Given the description of an element on the screen output the (x, y) to click on. 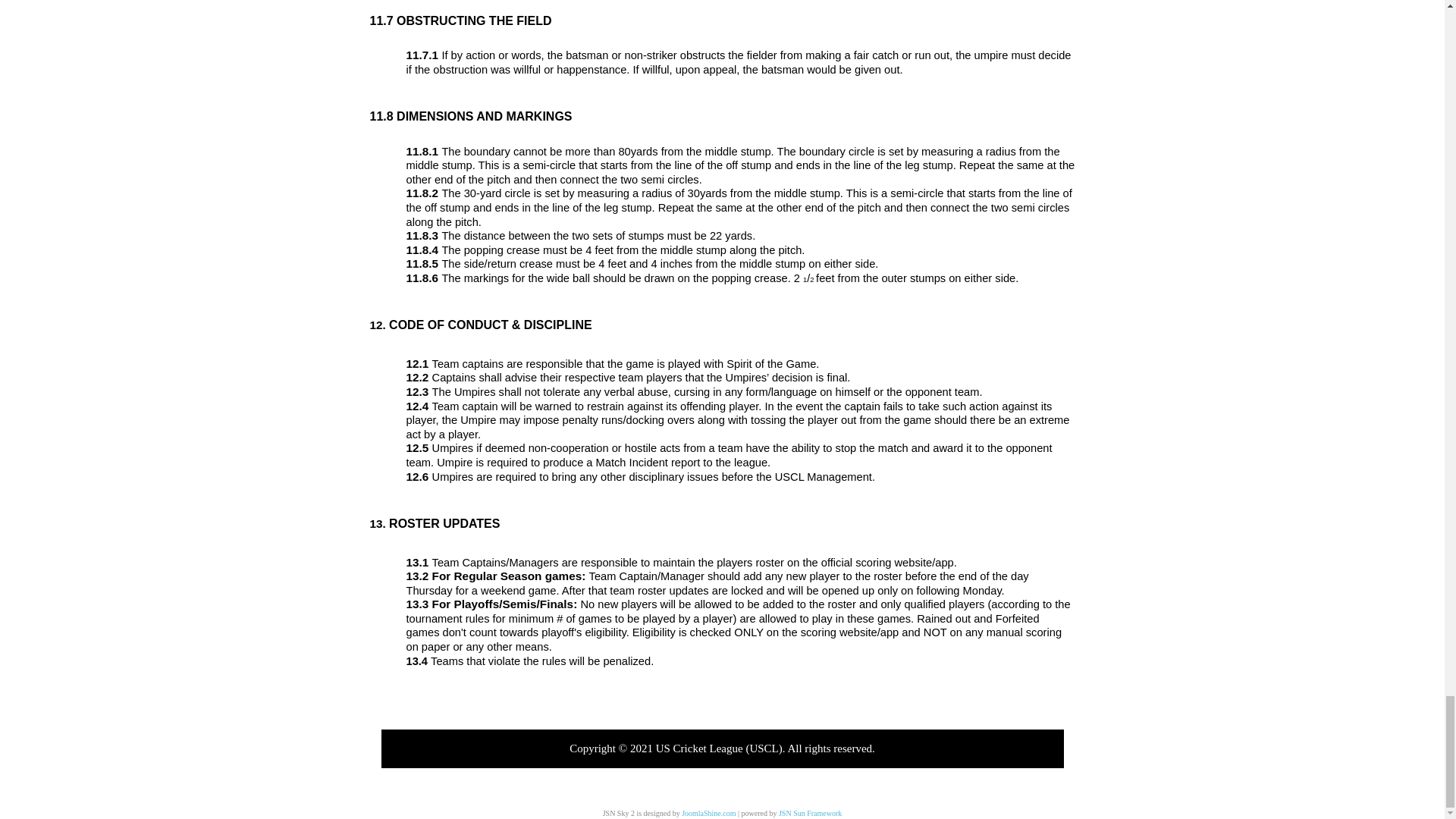
JSN Sun Framework is the best Joomla template framework (809, 813)
JSN Sun Framework (809, 813)
JoomlaShine.com (708, 813)
